Given the description of an element on the screen output the (x, y) to click on. 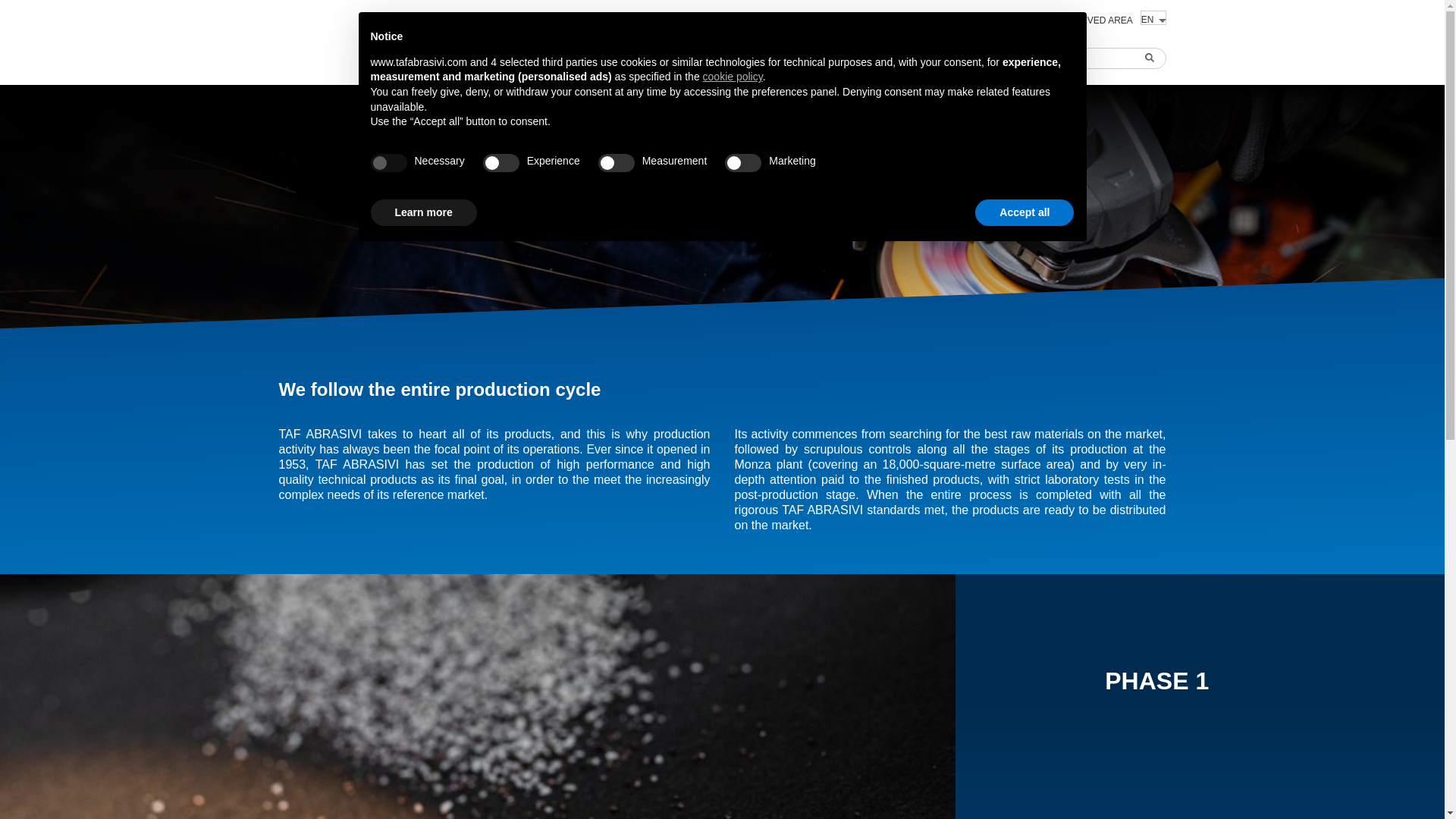
false (616, 162)
NEWS (863, 63)
CONTACTS (973, 63)
PRODUCTS (599, 63)
RESERVED AREA (1094, 20)
false (743, 162)
true (387, 162)
false (501, 162)
COMPANY (468, 63)
DOWNLOAD (1013, 20)
EN (1153, 17)
